Given the description of an element on the screen output the (x, y) to click on. 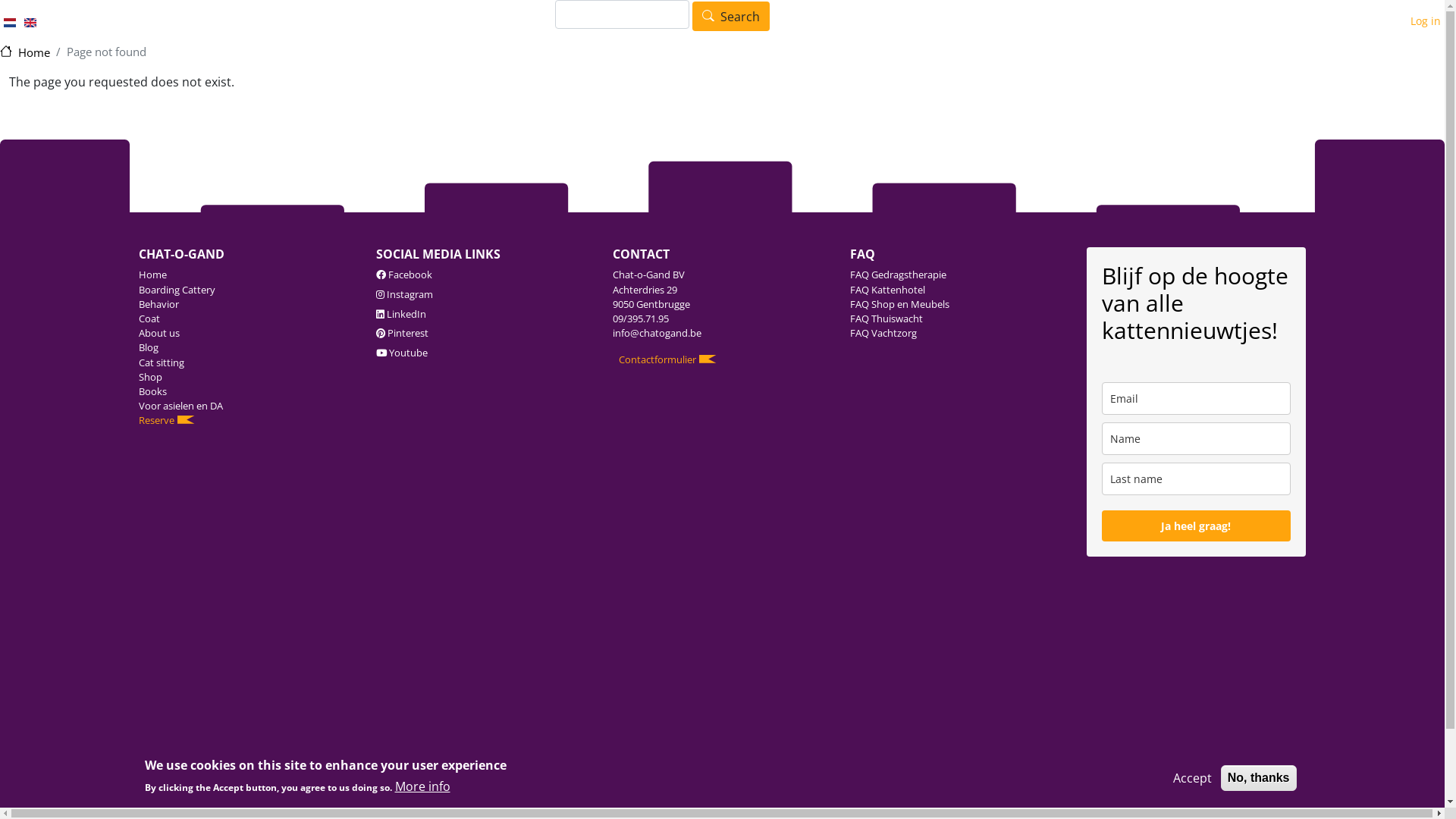
Instagram Element type: text (409, 294)
Boarding Cattery Element type: text (247, 289)
Enter the terms you wish to search for. Element type: hover (622, 14)
FAQ Thuiswacht Element type: text (959, 318)
Voor asielen en DA Element type: text (247, 405)
Behavior Element type: text (247, 304)
LinkedIn Element type: text (406, 313)
info@chatogand.be Element type: text (656, 332)
Home Element type: text (25, 51)
Blog Element type: text (247, 347)
FAQ Kattenhotel Element type: text (959, 289)
Accept Element type: text (1192, 777)
More info Element type: text (421, 786)
Coat Element type: text (247, 318)
Cat sitting Element type: text (247, 362)
Dutch Element type: hover (9, 22)
Shop Element type: text (247, 377)
Facebook Element type: text (410, 274)
Home Element type: text (247, 274)
Books Element type: text (247, 391)
Search Element type: text (730, 16)
Ja heel graag! Element type: text (1195, 525)
Log in Element type: text (1424, 21)
Reserve Element type: text (247, 420)
English Element type: hover (30, 22)
Contactformulier Element type: text (668, 359)
FAQ Gedragstherapie Element type: text (959, 274)
No, thanks Element type: text (1258, 777)
FAQ Shop en Meubels Element type: text (959, 304)
Pinterest Element type: text (407, 332)
FAQ Vachtzorg Element type: text (959, 333)
Youtube Element type: text (408, 352)
About us Element type: text (247, 333)
